Given the description of an element on the screen output the (x, y) to click on. 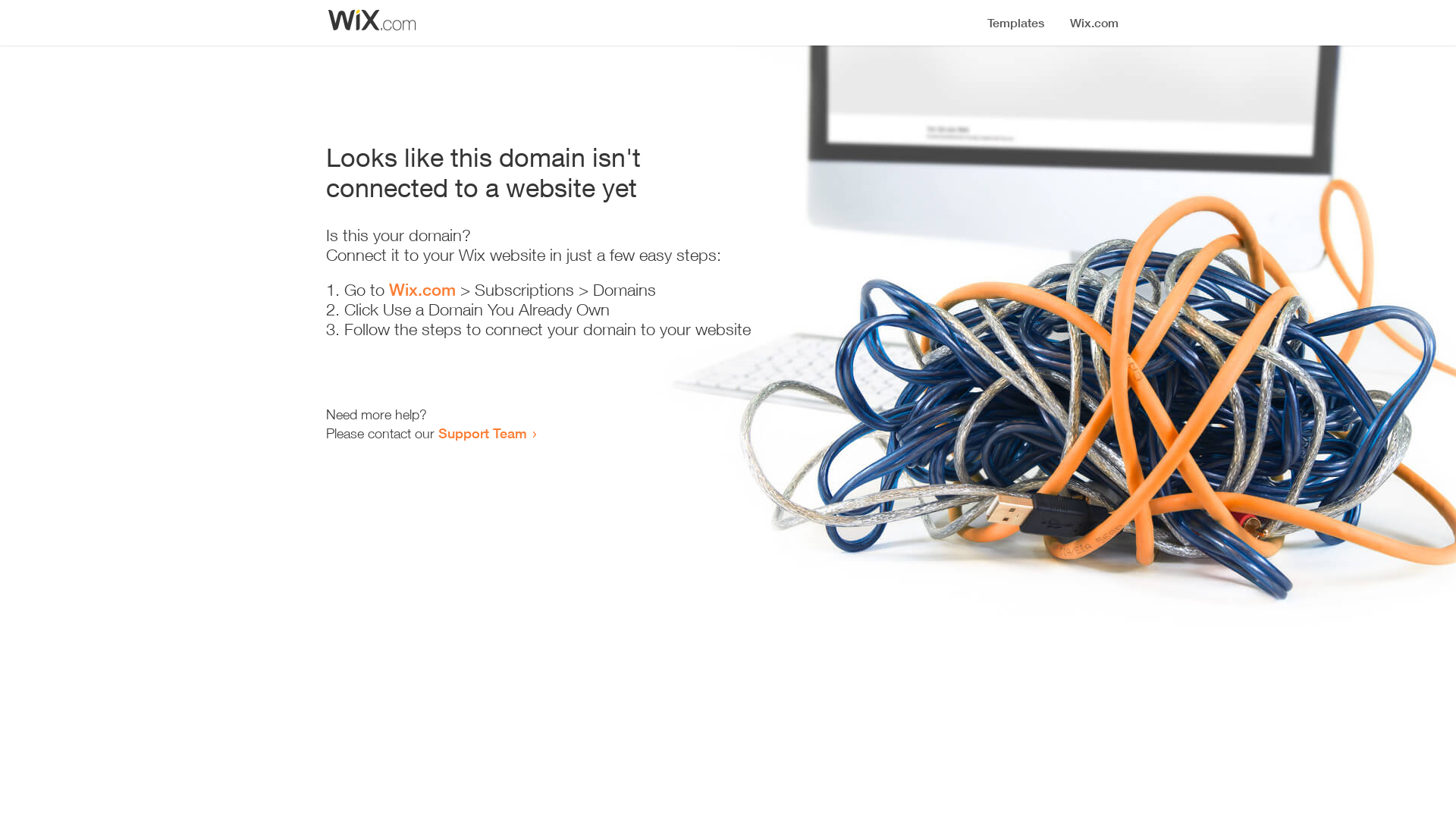
Support Team Element type: text (482, 432)
Wix.com Element type: text (422, 289)
